Given the description of an element on the screen output the (x, y) to click on. 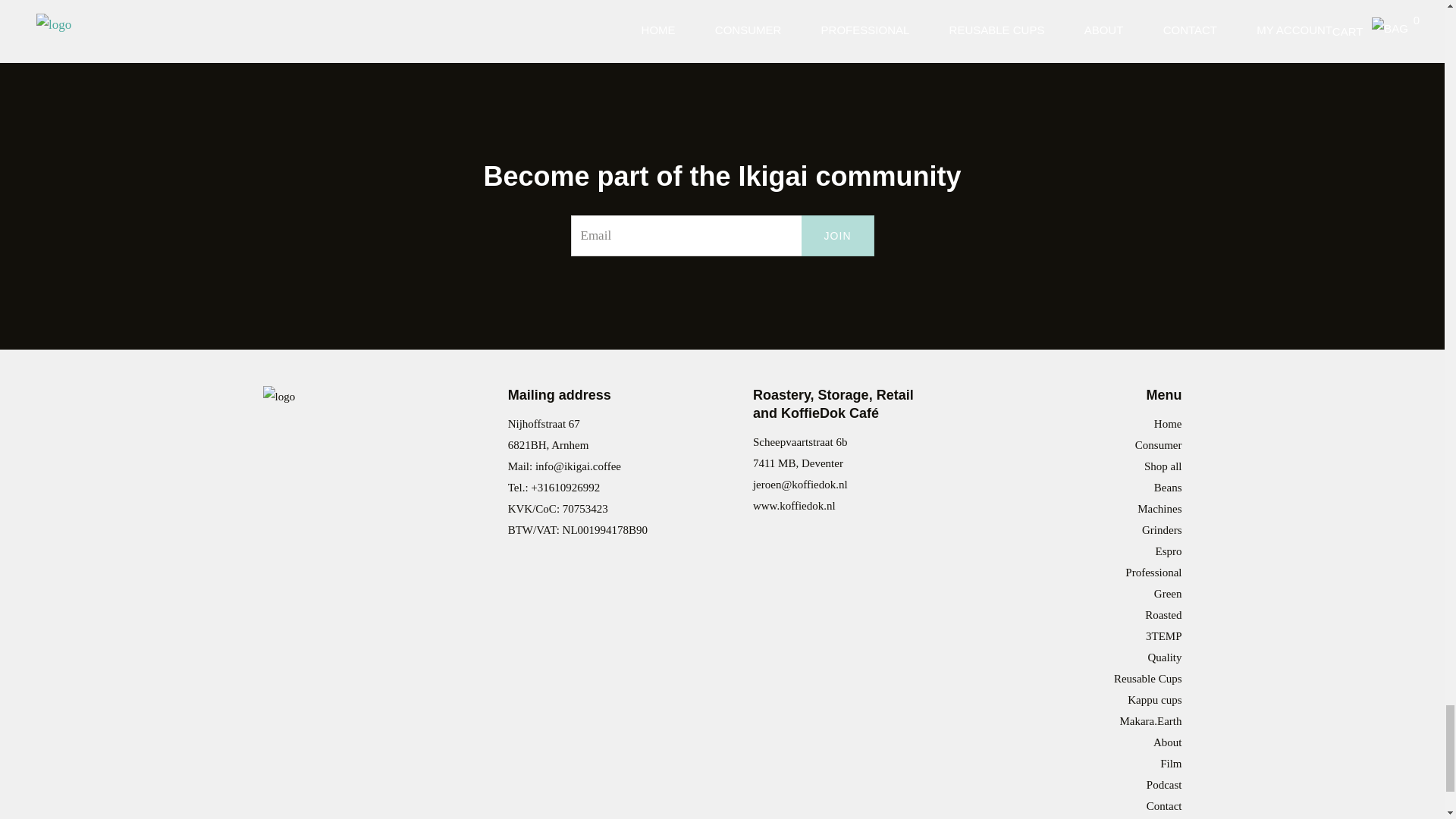
Join (838, 235)
Join (838, 235)
www.koffiedok.nl (793, 505)
Home (1168, 423)
